Given the description of an element on the screen output the (x, y) to click on. 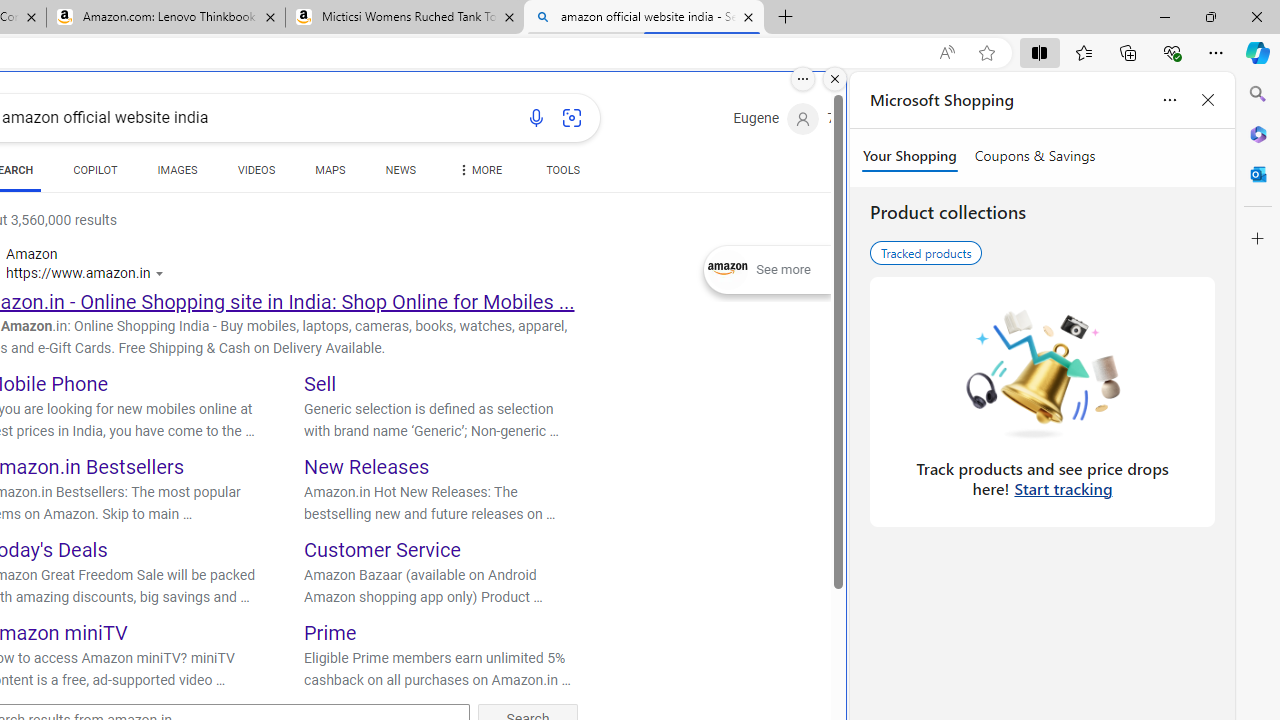
Search using an image (572, 117)
Expand See more (767, 269)
NEWS (400, 173)
COPILOT (95, 173)
Prime (330, 632)
New Releases (367, 466)
More options. (803, 79)
Customer Service (382, 549)
NEWS (400, 170)
COPILOT (95, 170)
